Given the description of an element on the screen output the (x, y) to click on. 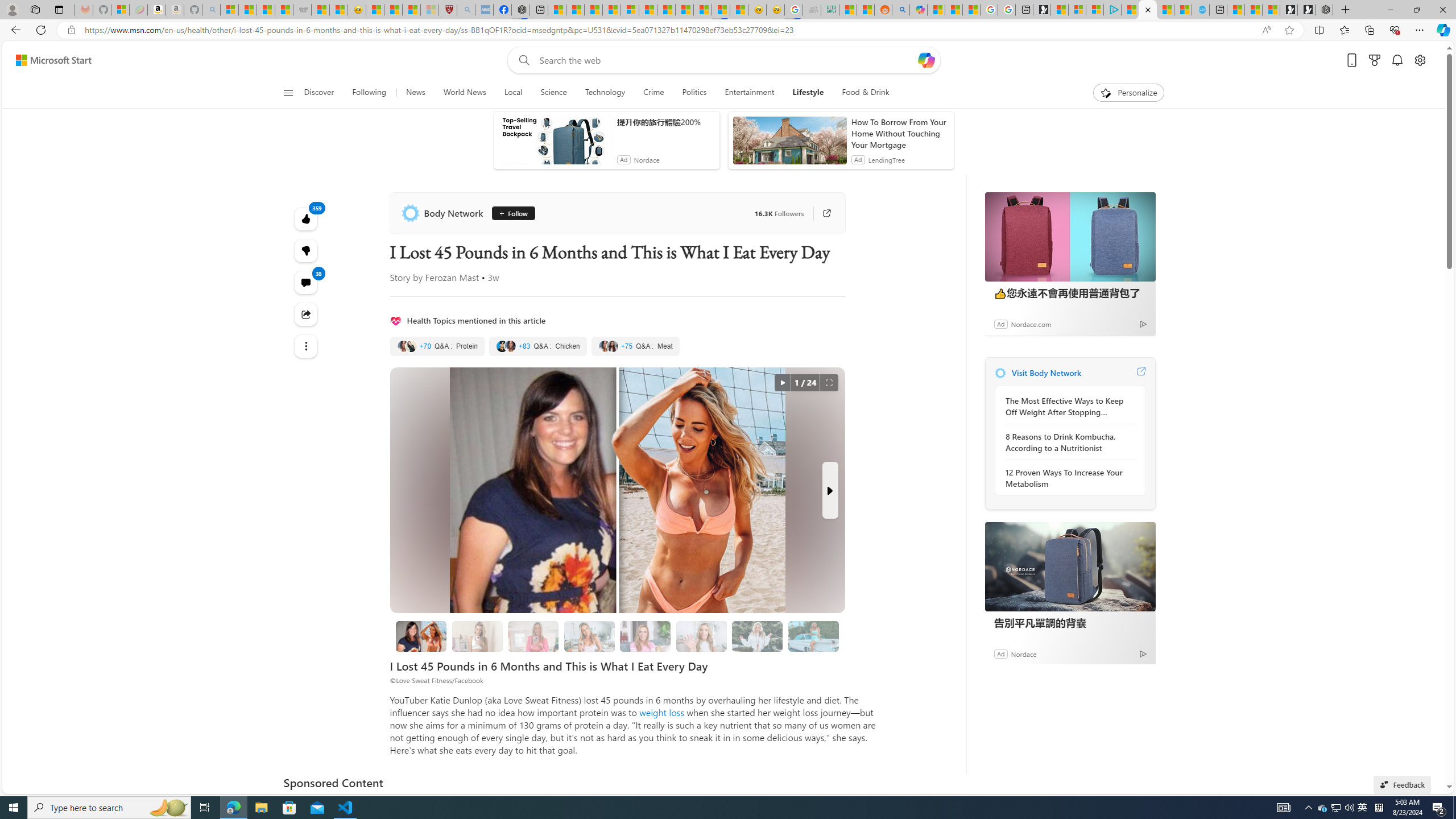
Body Network (443, 212)
1 Smoothie Bowl (477, 636)
12 Proven Ways To Increase Your Metabolism (1066, 477)
1 Katie Reduced Caffeine Intake (588, 635)
